Given the description of an element on the screen output the (x, y) to click on. 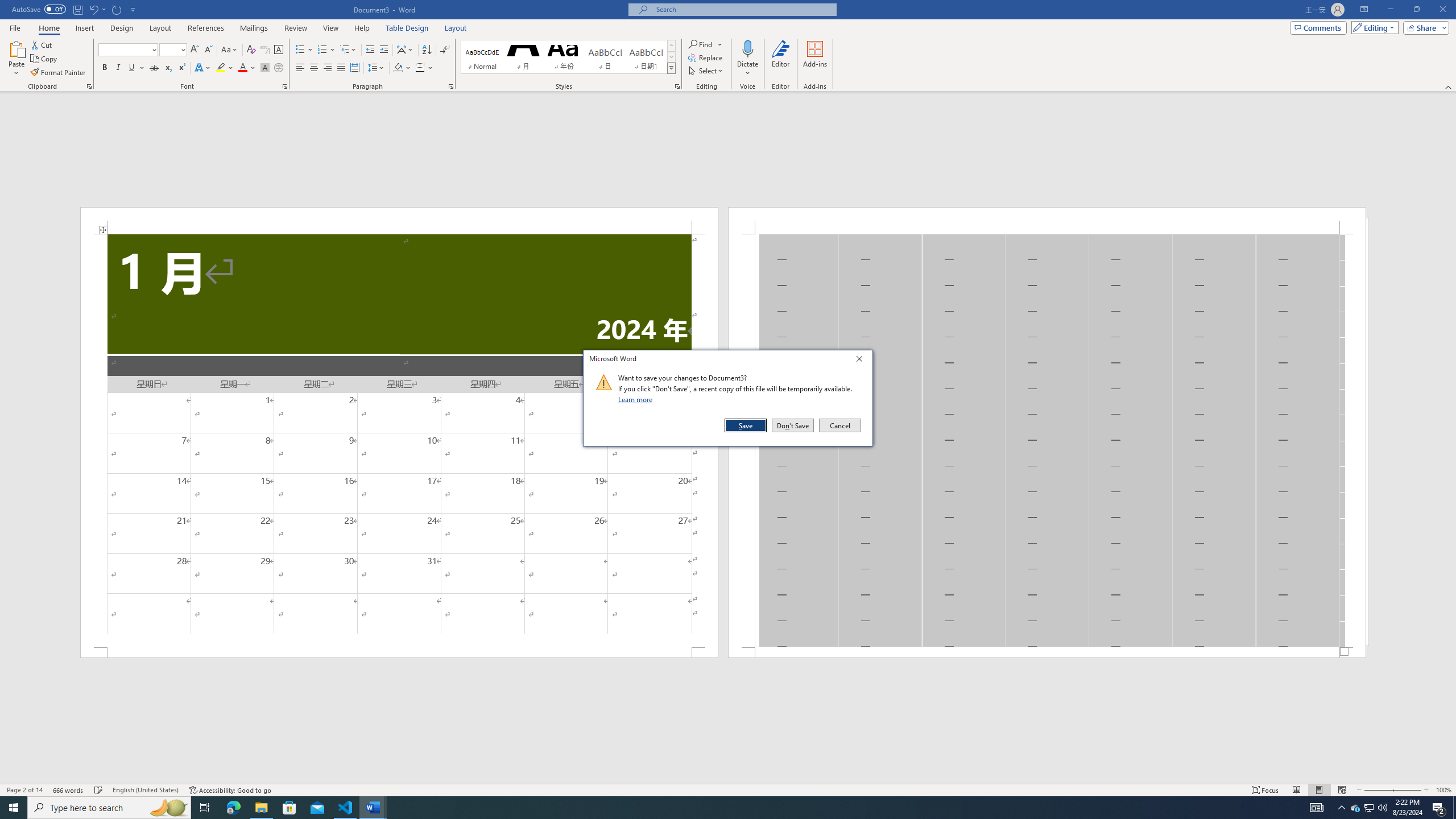
File Explorer - 1 running window (261, 807)
